Given the description of an element on the screen output the (x, y) to click on. 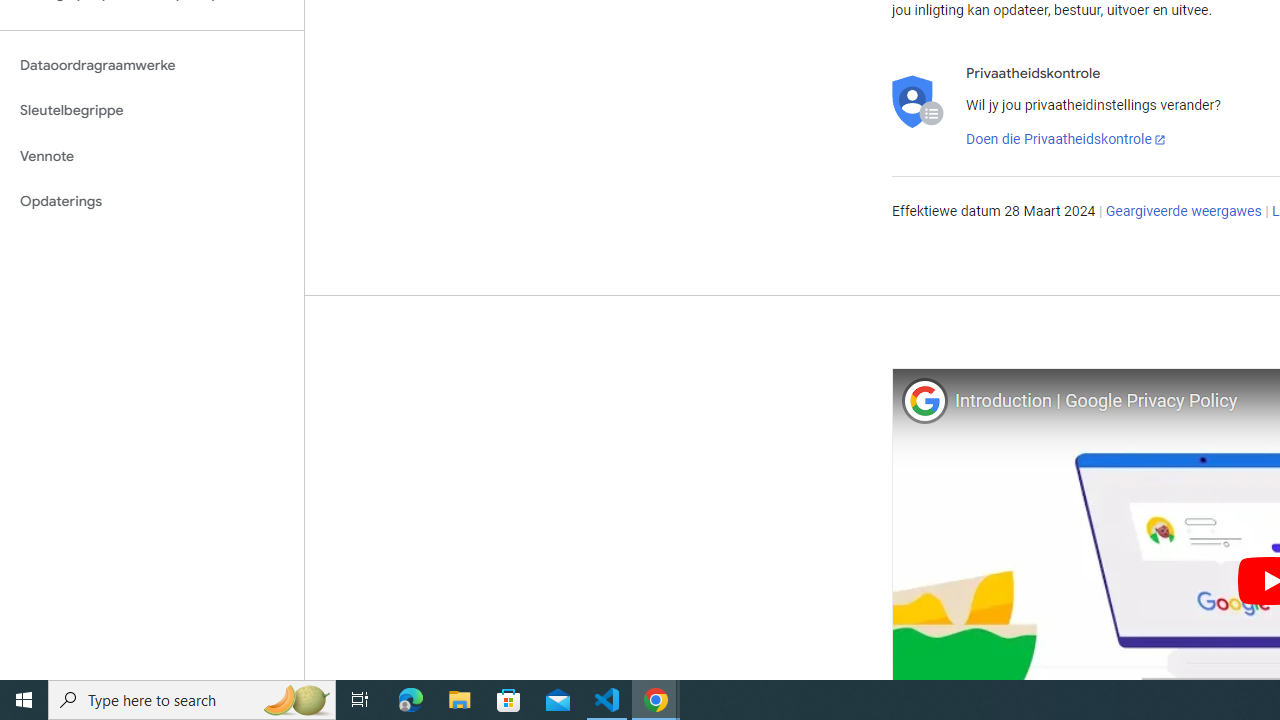
Vennote (152, 156)
Opdaterings (152, 201)
Sleutelbegrippe (152, 110)
Doen die Privaatheidskontrole (1066, 140)
Dataoordragraamwerke (152, 65)
Fotobeeld van Google (924, 400)
Geargiveerde weergawes (1183, 212)
